Given the description of an element on the screen output the (x, y) to click on. 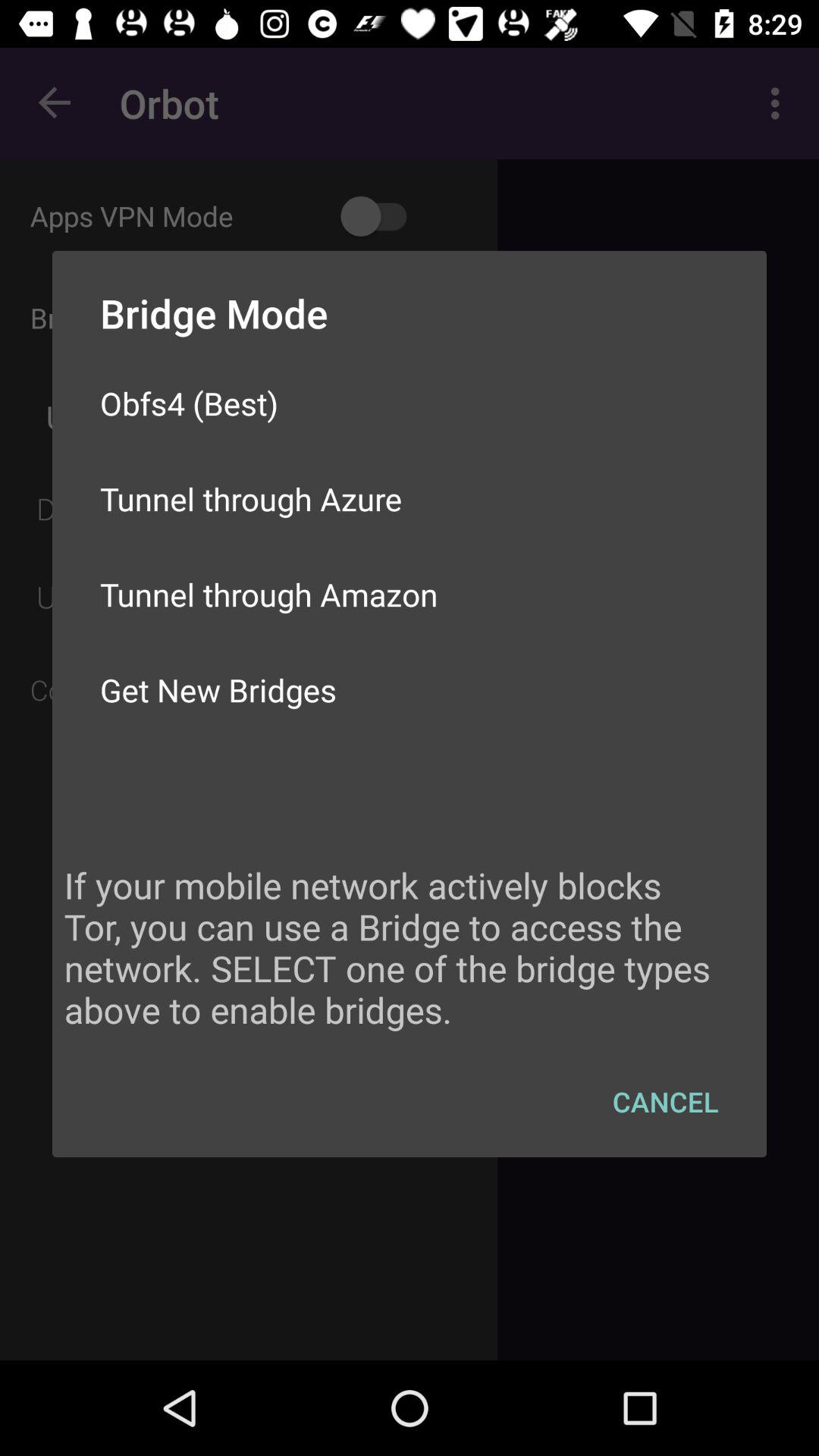
press icon at the bottom right corner (665, 1101)
